Given the description of an element on the screen output the (x, y) to click on. 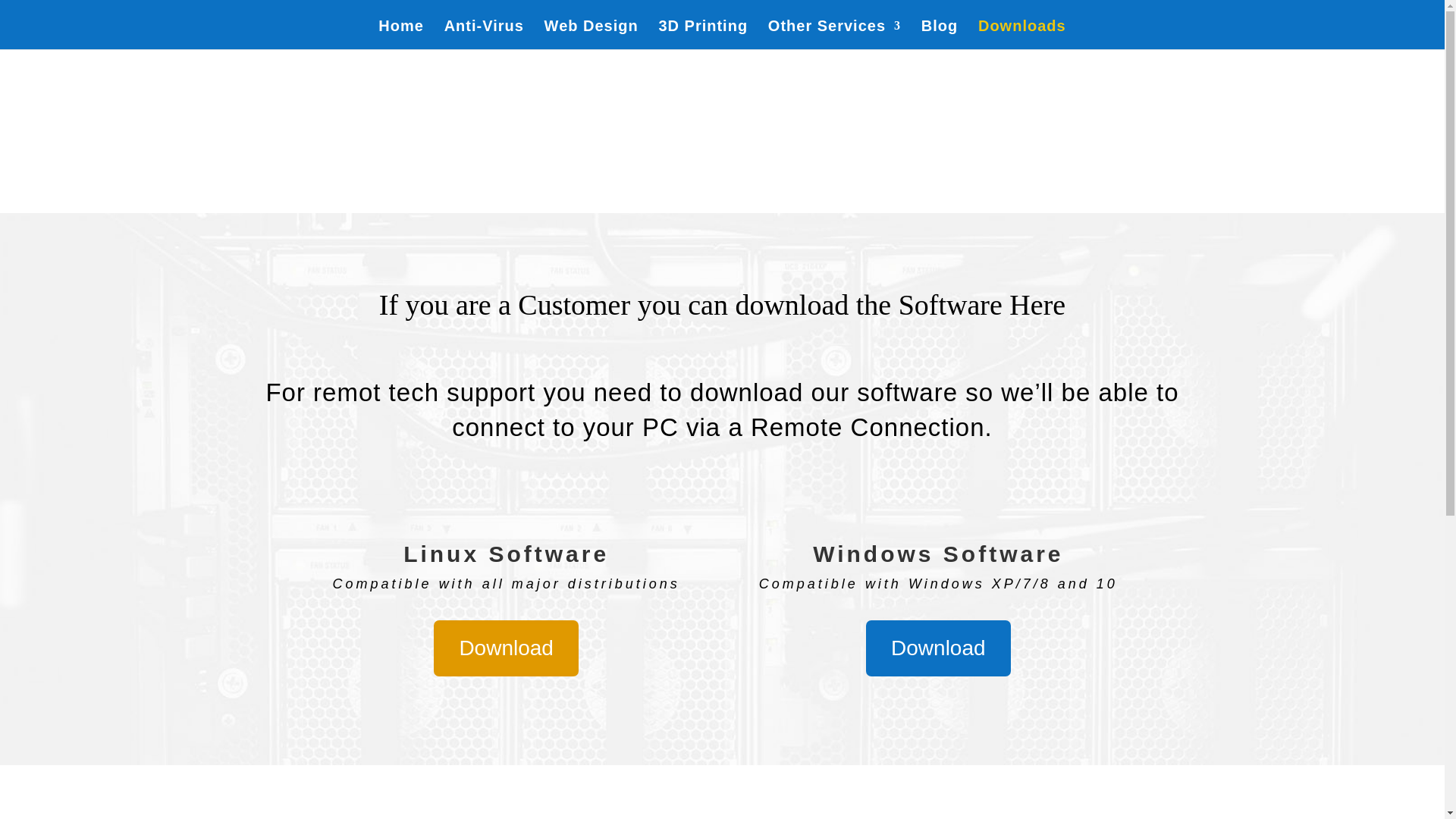
Downloads (1021, 34)
Blog (939, 34)
Home (400, 34)
Download (938, 647)
Download (505, 647)
Anti-Virus (484, 34)
Web Design (591, 34)
Other Services (834, 34)
3D Printing (703, 34)
